Given the description of an element on the screen output the (x, y) to click on. 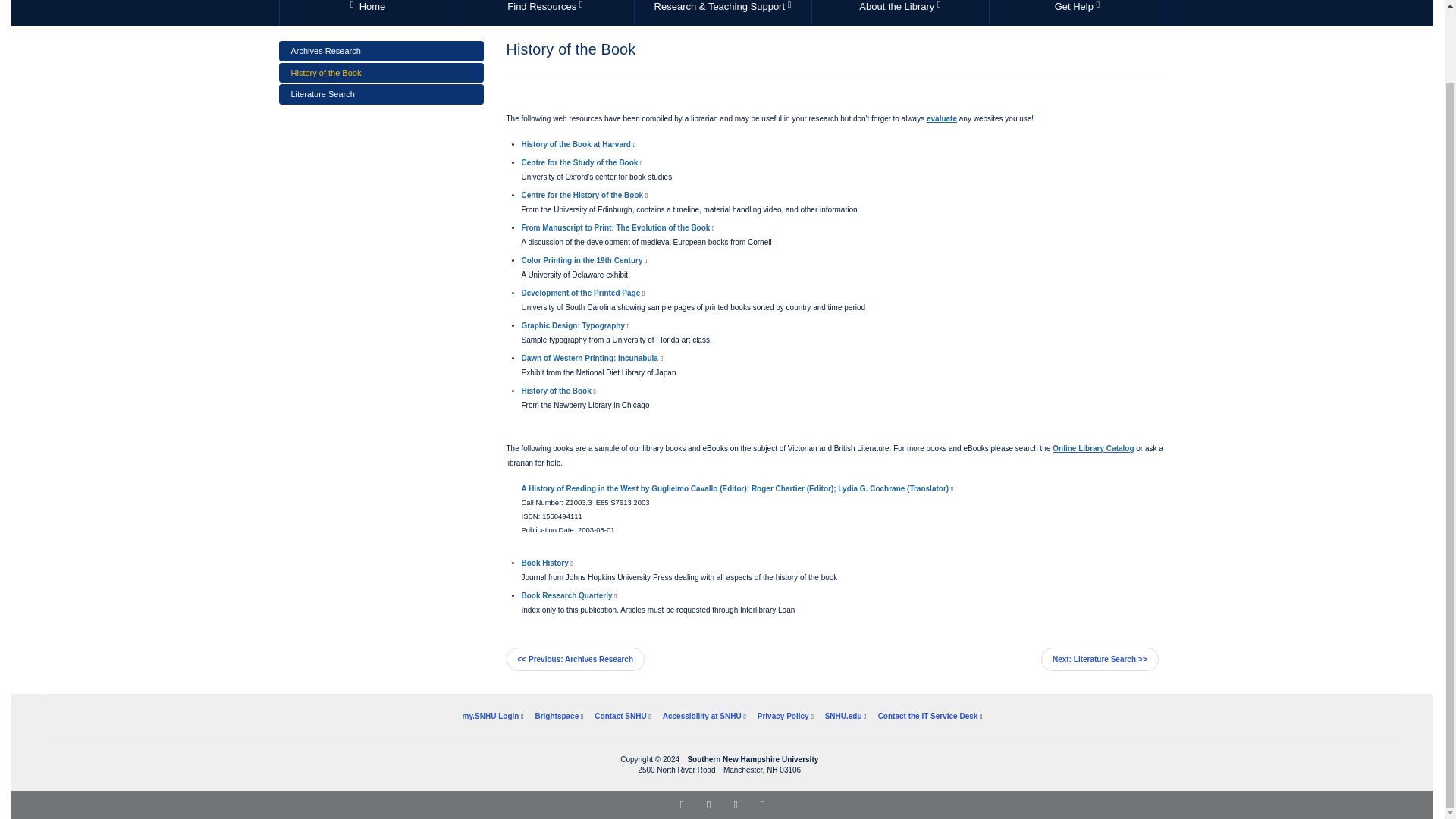
About the Library  (899, 12)
Click to Navigate to the Library Homepage (367, 12)
Find Resources  (367, 12)
